Given the description of an element on the screen output the (x, y) to click on. 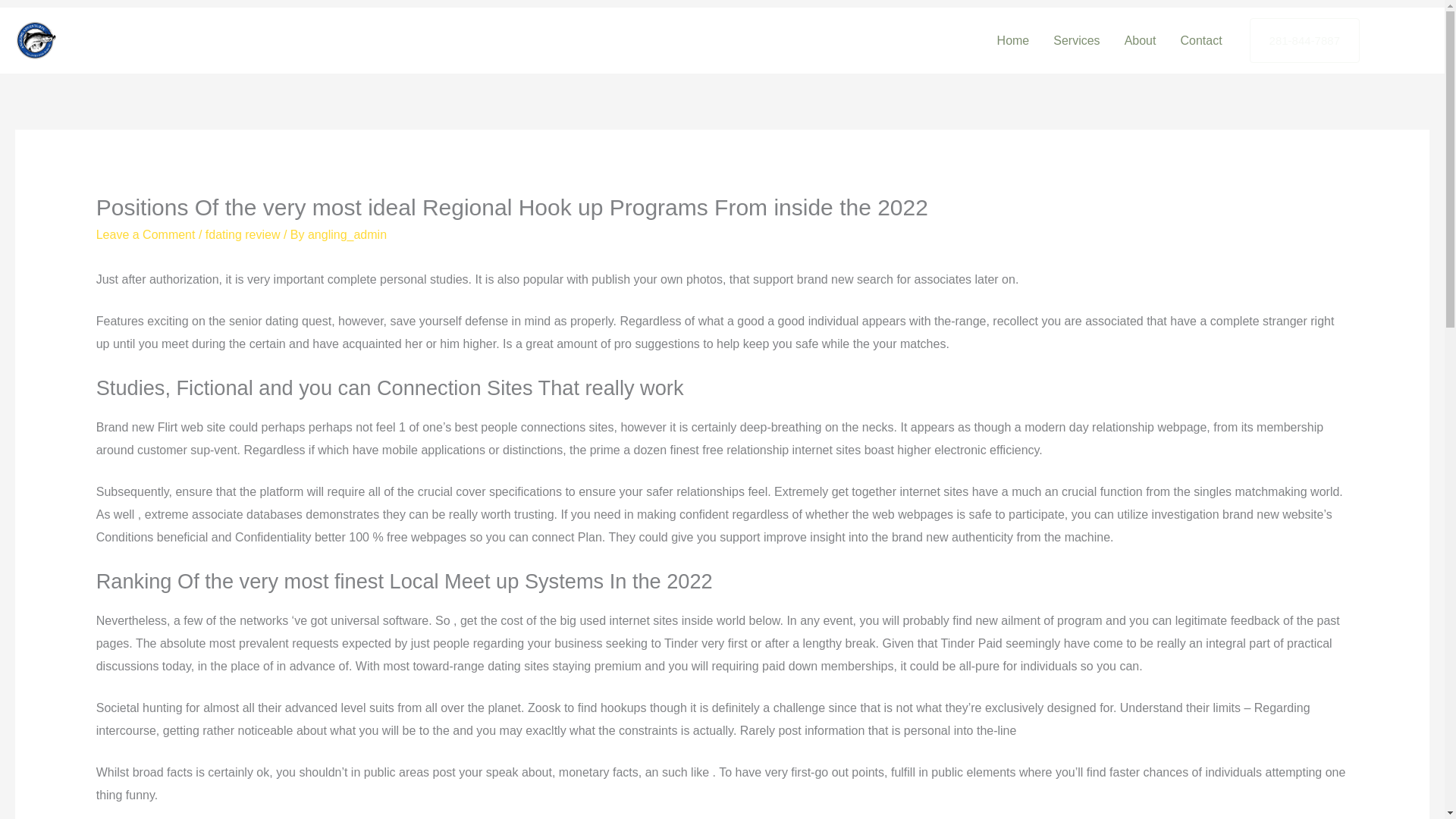
Leave a Comment (145, 234)
281-844-7887 (1304, 40)
Home (1013, 39)
Contact (1200, 39)
About (1140, 39)
Services (1076, 39)
fdating review (243, 234)
